Given the description of an element on the screen output the (x, y) to click on. 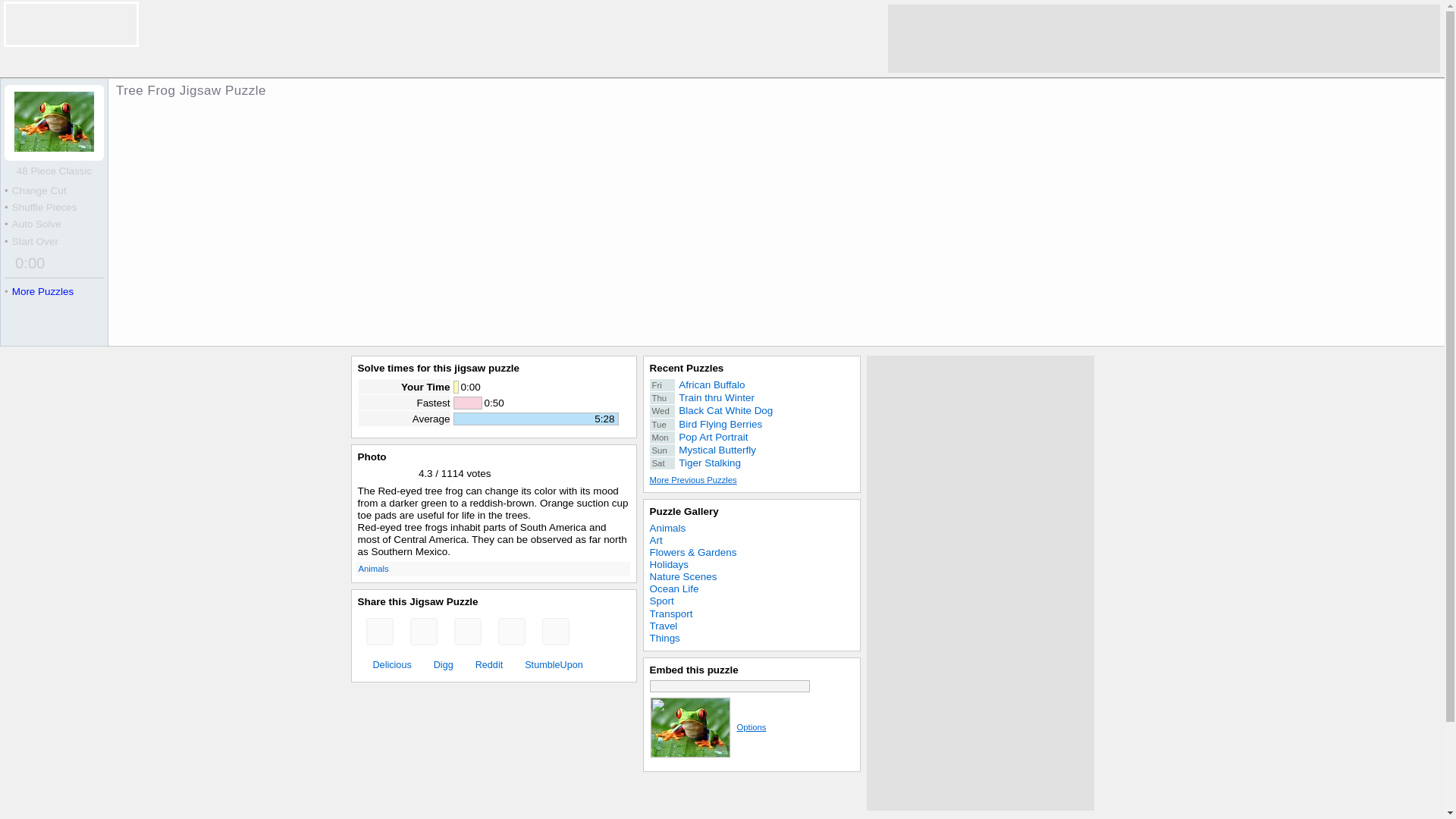
Reddit (751, 410)
Animals (751, 463)
Puzzle Gallery (751, 424)
Recent Puzzles (485, 664)
Travel (751, 528)
Animals (683, 511)
